Given the description of an element on the screen output the (x, y) to click on. 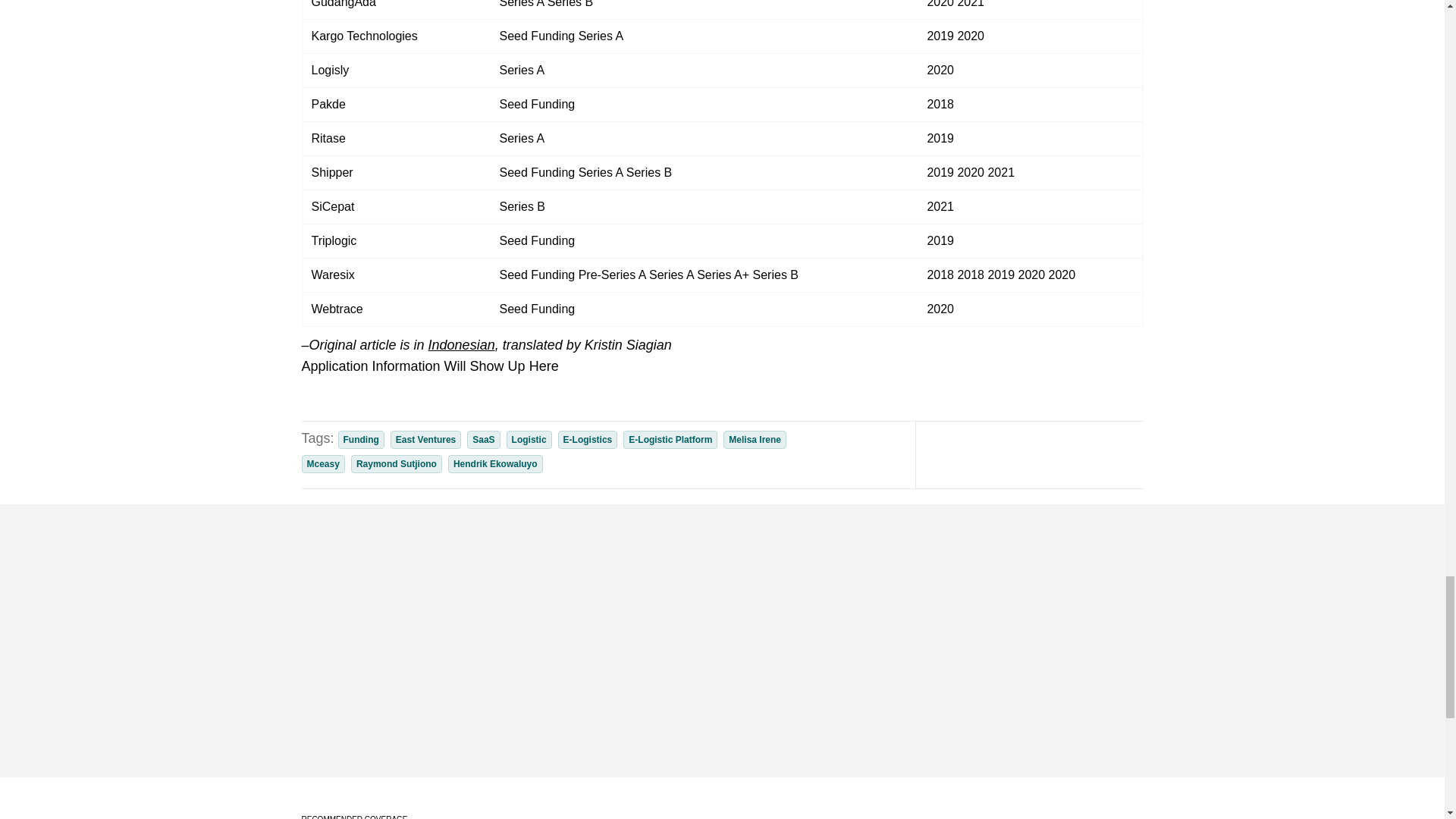
Share this article (1073, 454)
Share this article (1042, 454)
Share this article (1013, 454)
